Given the description of an element on the screen output the (x, y) to click on. 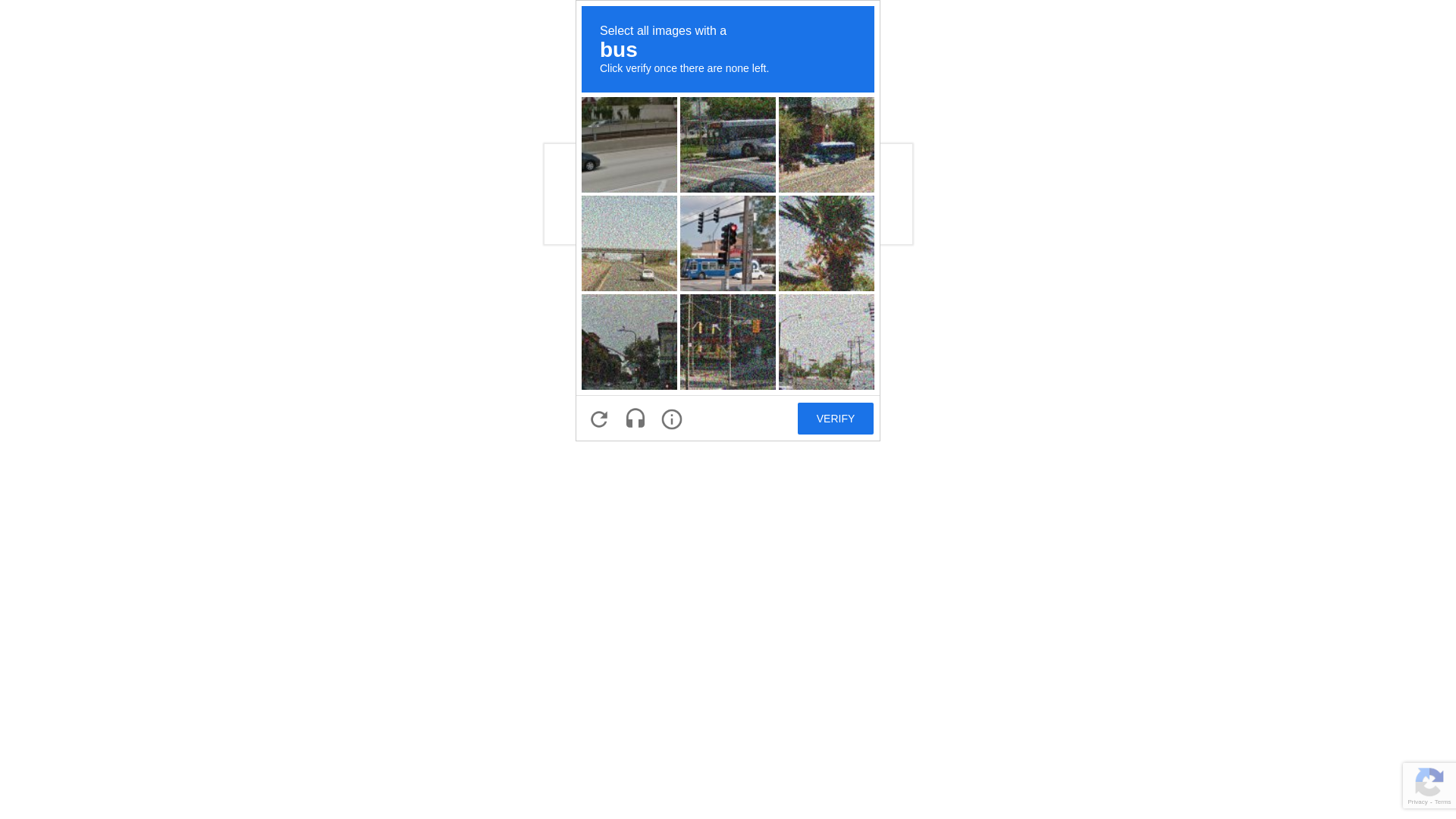
recaptcha challenge expires in two minutes Element type: hover (727, 220)
